Given the description of an element on the screen output the (x, y) to click on. 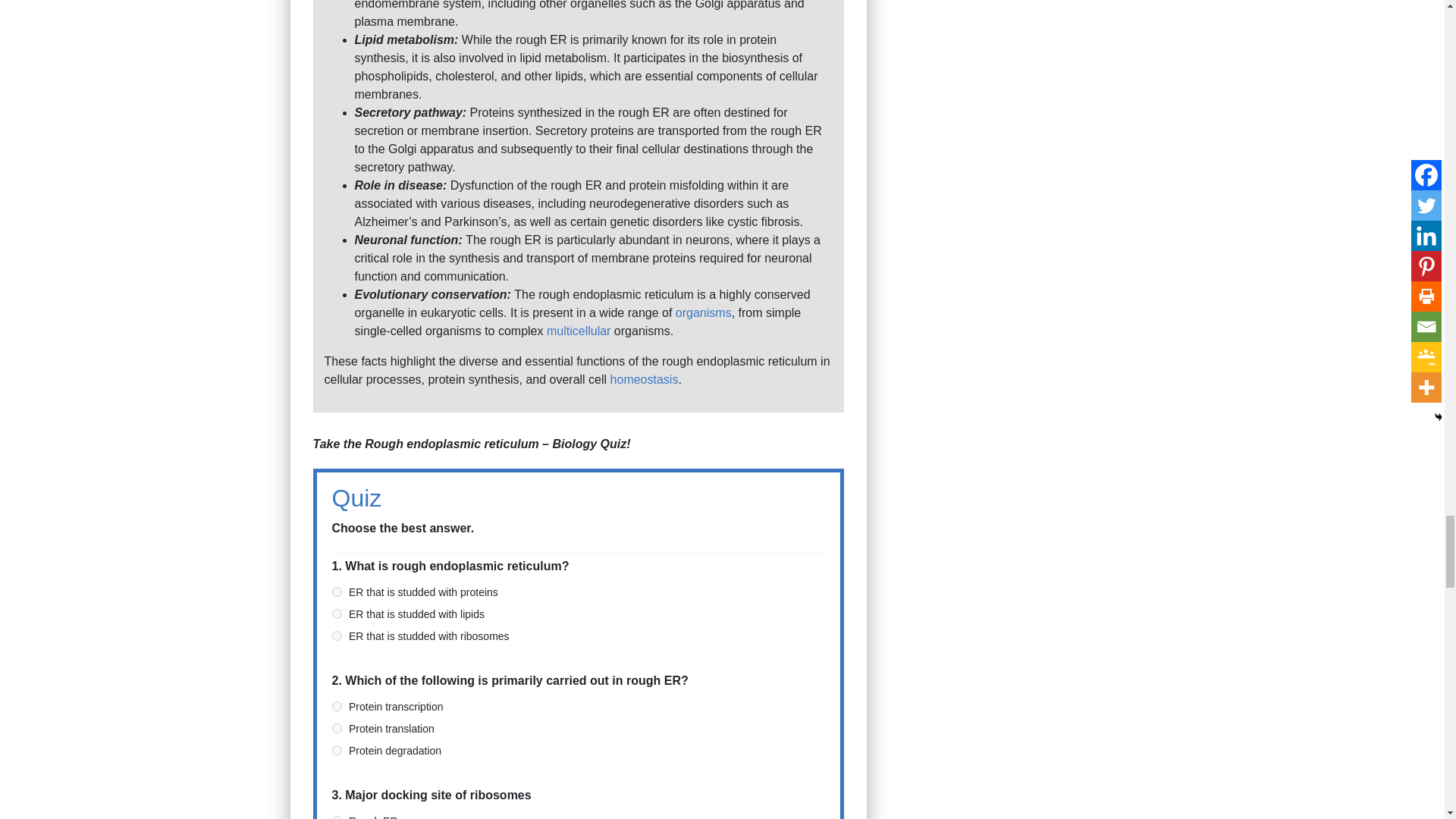
2 (336, 750)
2 (336, 635)
0 (336, 592)
1 (336, 614)
0 (336, 817)
0 (336, 706)
1 (336, 728)
